Given the description of an element on the screen output the (x, y) to click on. 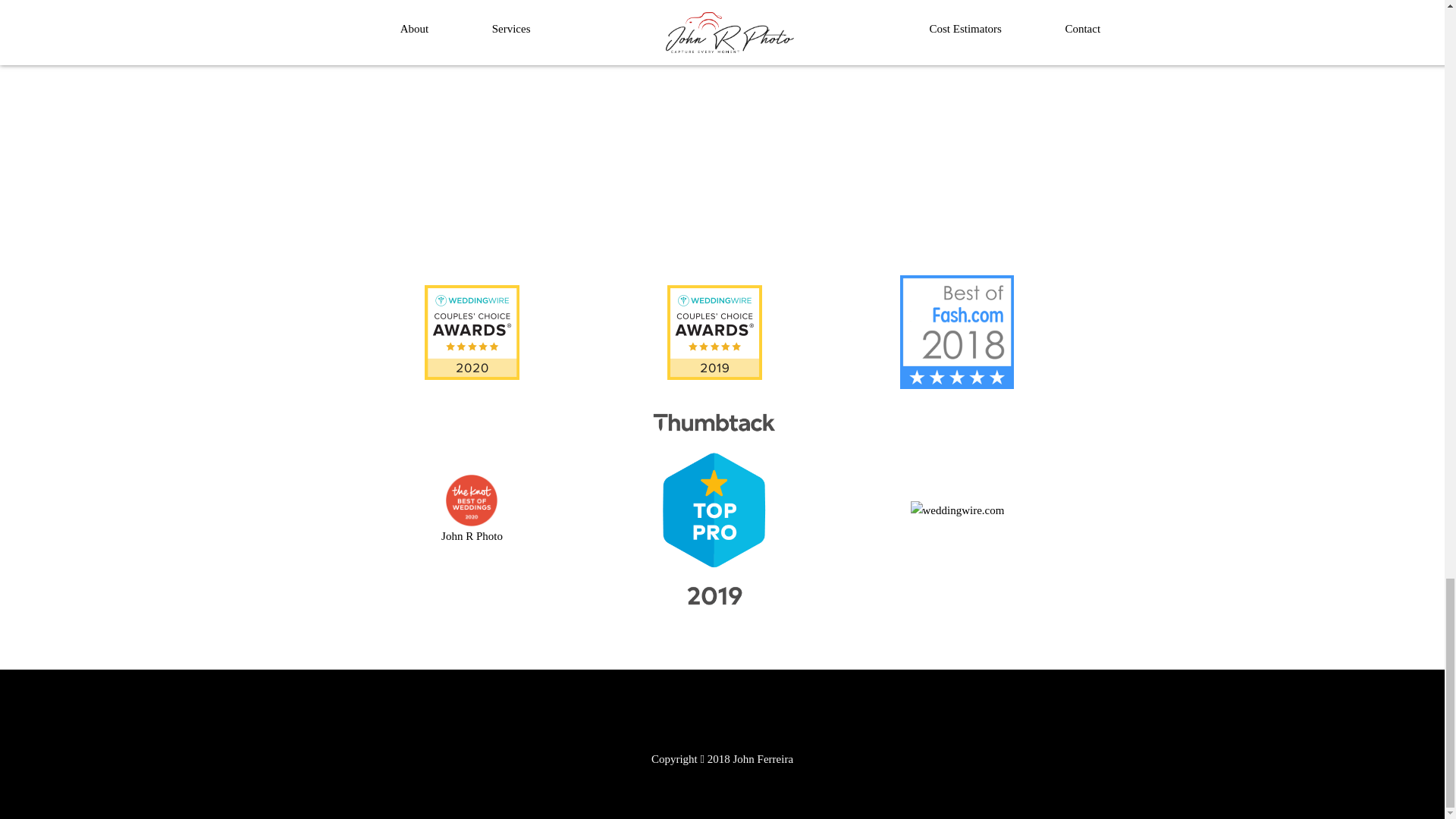
WeddingWire Couples' Choice Award Winner 2020 (472, 331)
WeddingWire Couples' Choice Award Winner 2019 (713, 331)
weddingwire.com (957, 509)
Send (695, 177)
